Given the description of an element on the screen output the (x, y) to click on. 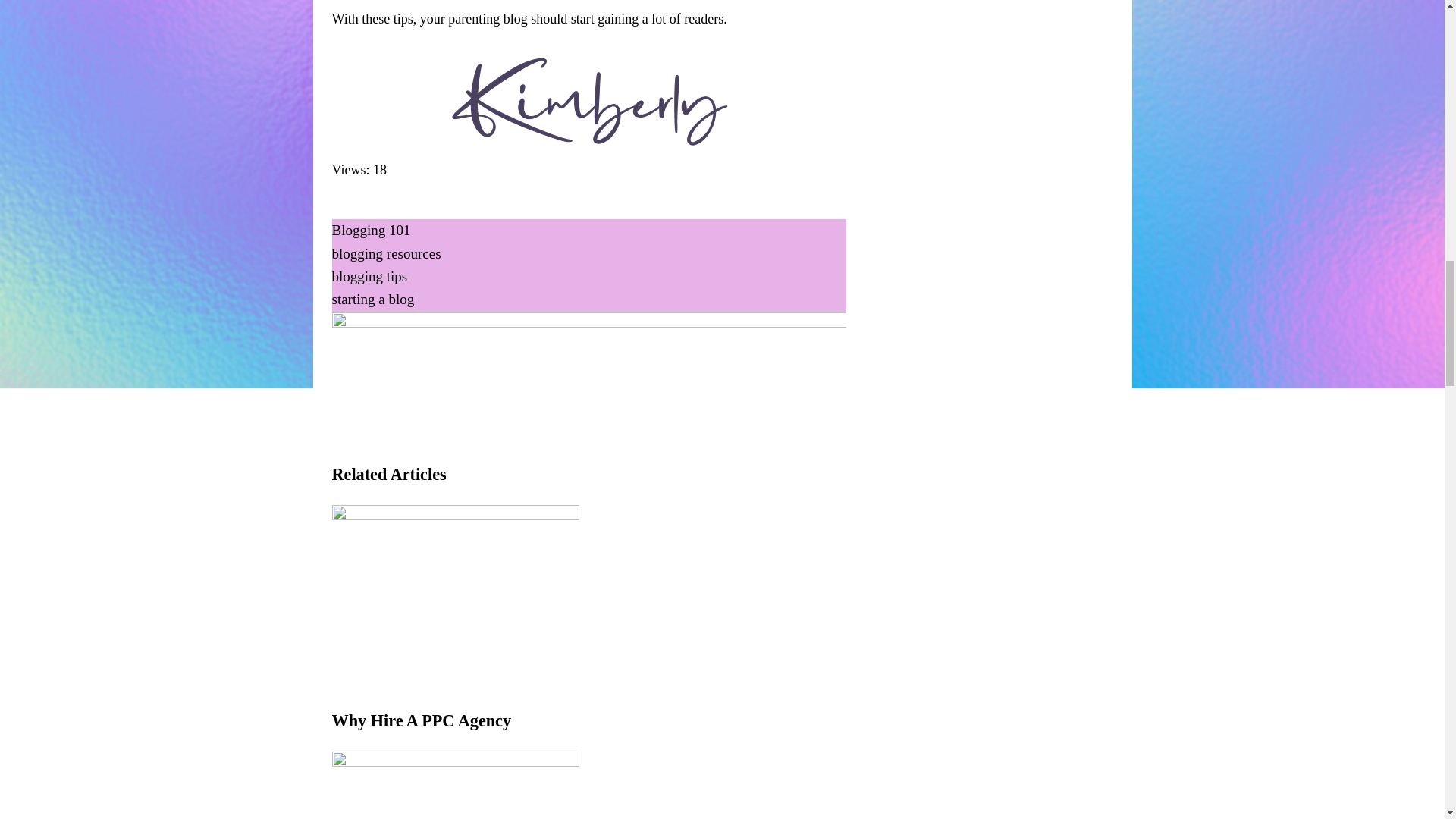
Why Hire A PPC Agency (455, 678)
starting a blog (372, 299)
Blogging 101 (370, 229)
Why Hire A PPC Agency (421, 720)
blogging tips (369, 276)
blogging resources (386, 253)
Why Hire A PPC Agency (421, 720)
